Given the description of an element on the screen output the (x, y) to click on. 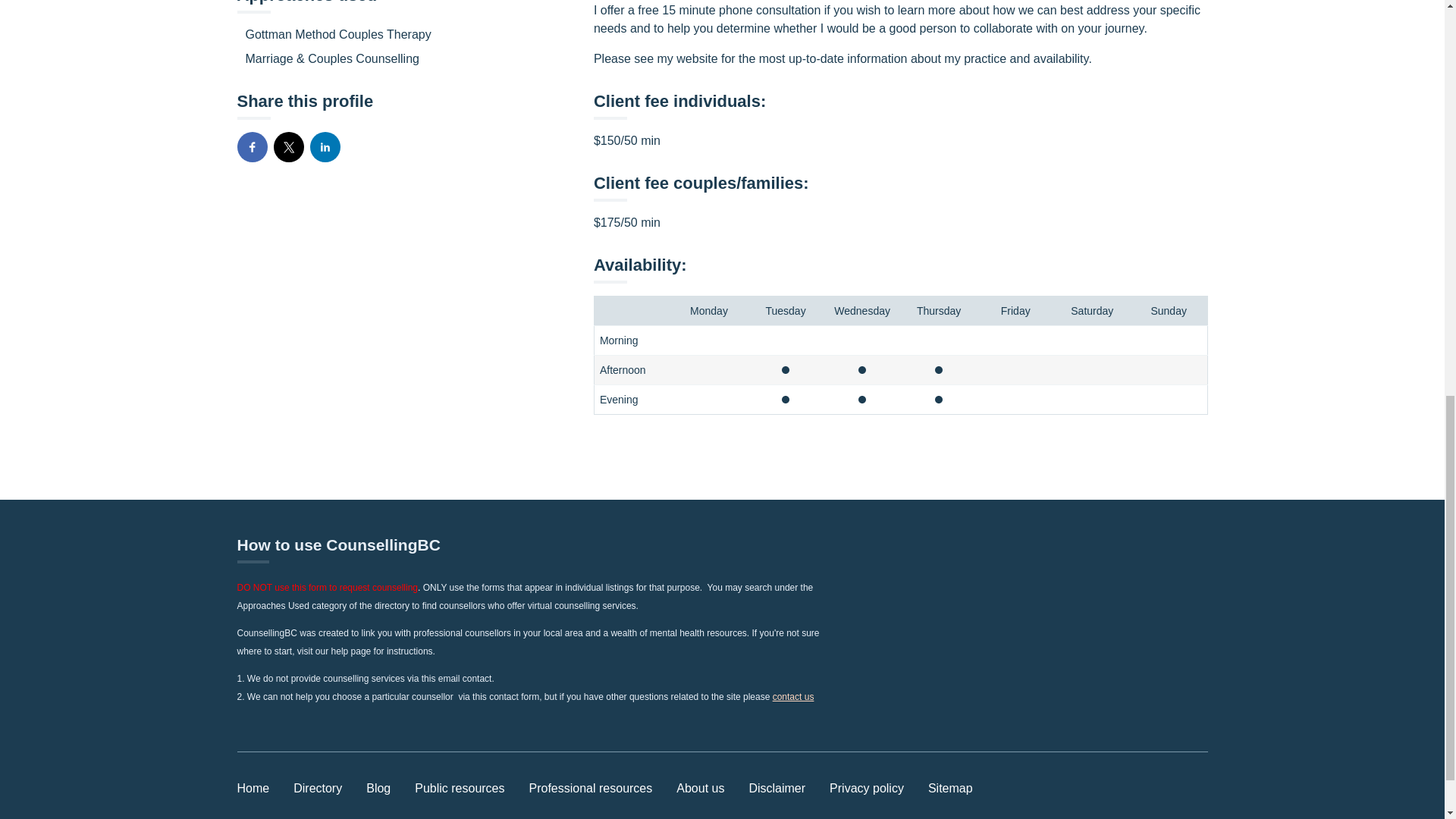
Directory (318, 788)
Privacy policy (866, 788)
Public resources (458, 788)
Sitemap (950, 788)
About us (700, 788)
Professional resources (590, 788)
contact us (793, 696)
Disclaimer (776, 788)
Home (252, 788)
Blog (378, 788)
